Given the description of an element on the screen output the (x, y) to click on. 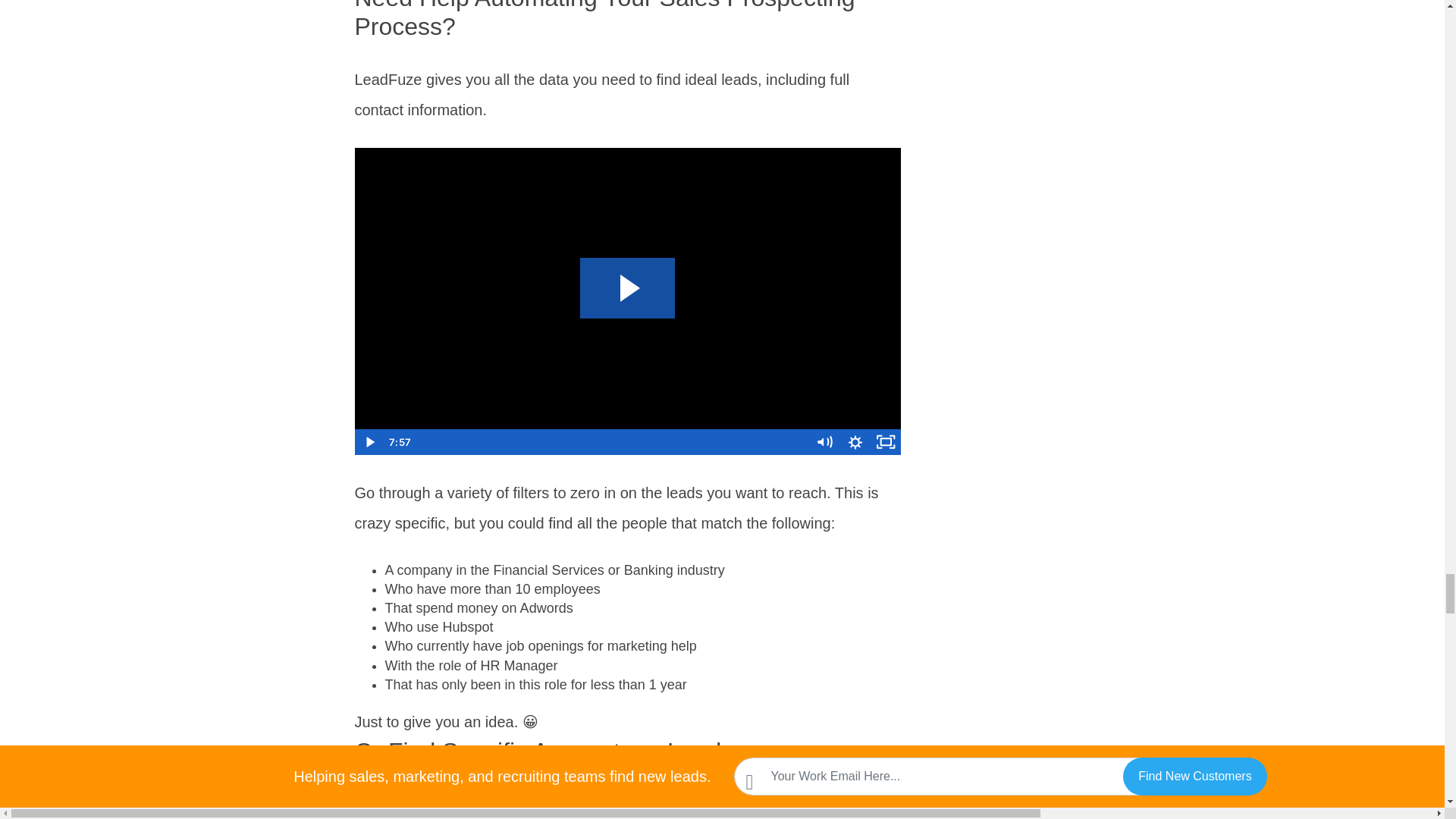
Fullscreen (885, 442)
Play Video (370, 442)
Mute (824, 442)
Show settings menu (855, 442)
